Given the description of an element on the screen output the (x, y) to click on. 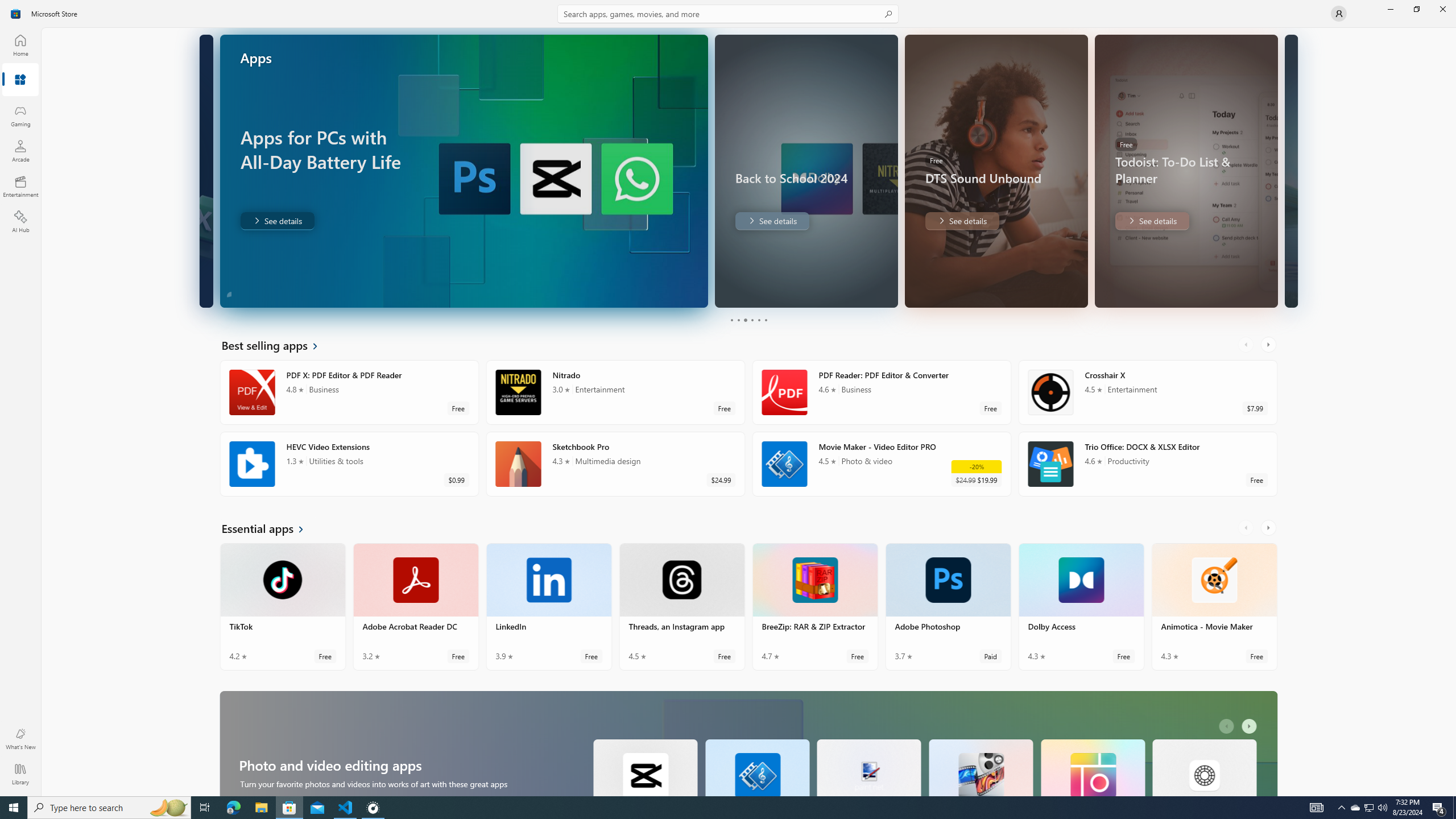
AutomationID: Image (1290, 170)
Page 1 (731, 319)
Page 2 (738, 319)
Search (727, 13)
Home (20, 45)
